Given the description of an element on the screen output the (x, y) to click on. 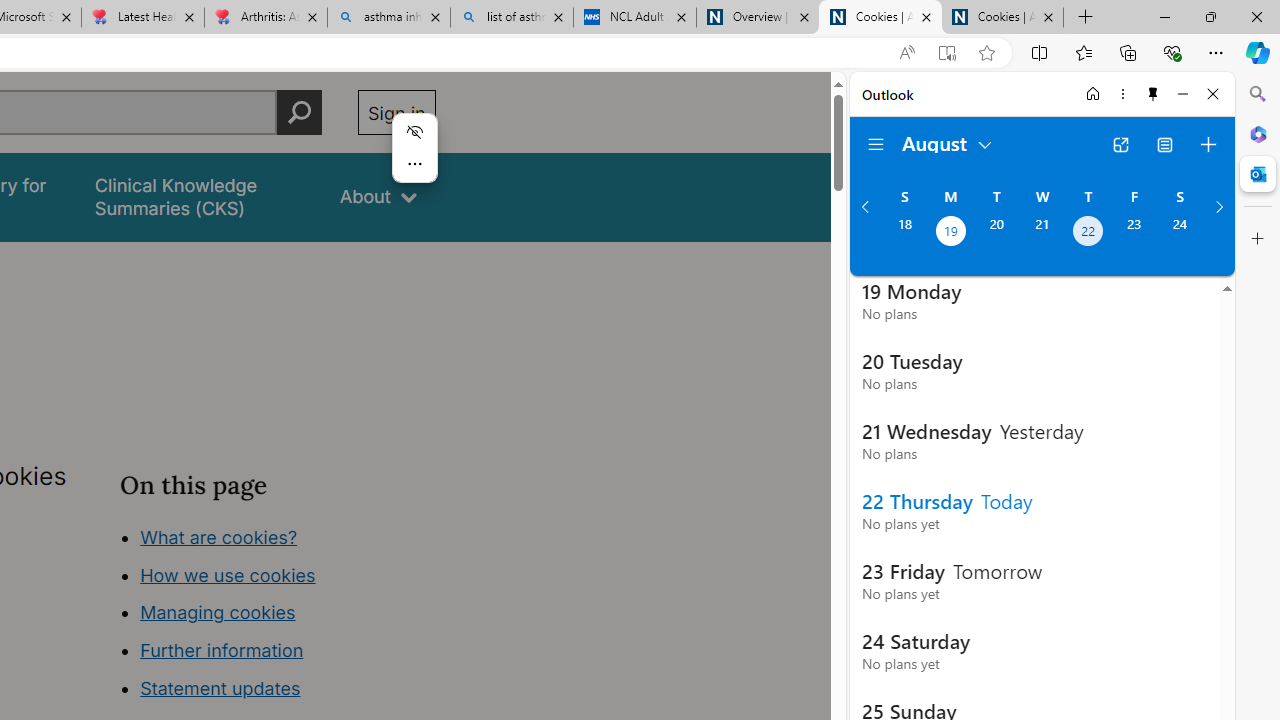
Thursday, August 22, 2024. Today.  (1088, 233)
Folder navigation (876, 144)
Further information (221, 650)
Monday, August 19, 2024. Date selected.  (950, 233)
Sunday, August 18, 2024.  (904, 233)
August (948, 141)
